Given the description of an element on the screen output the (x, y) to click on. 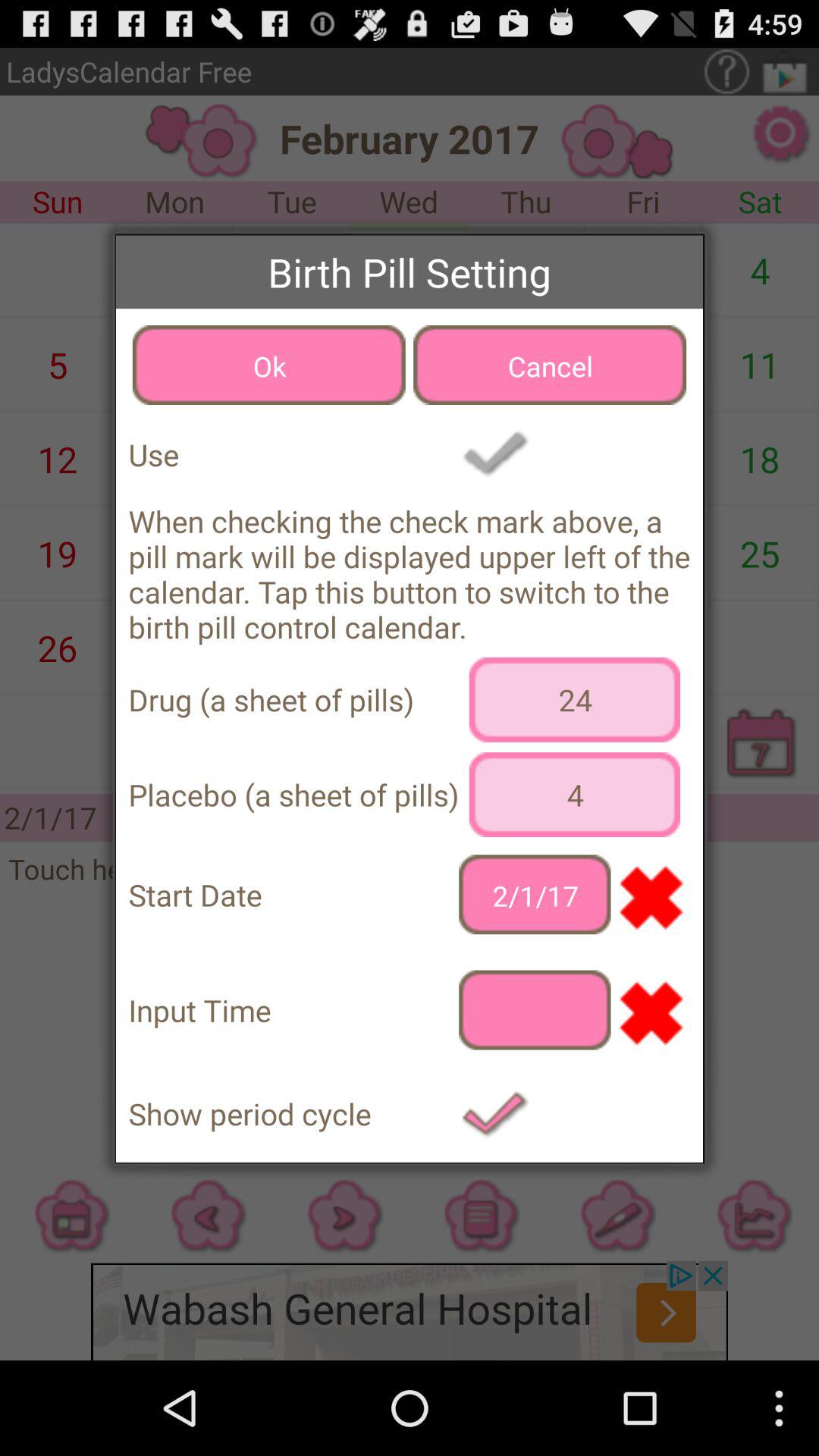
select the icon to the right of start date app (534, 894)
